Given the description of an element on the screen output the (x, y) to click on. 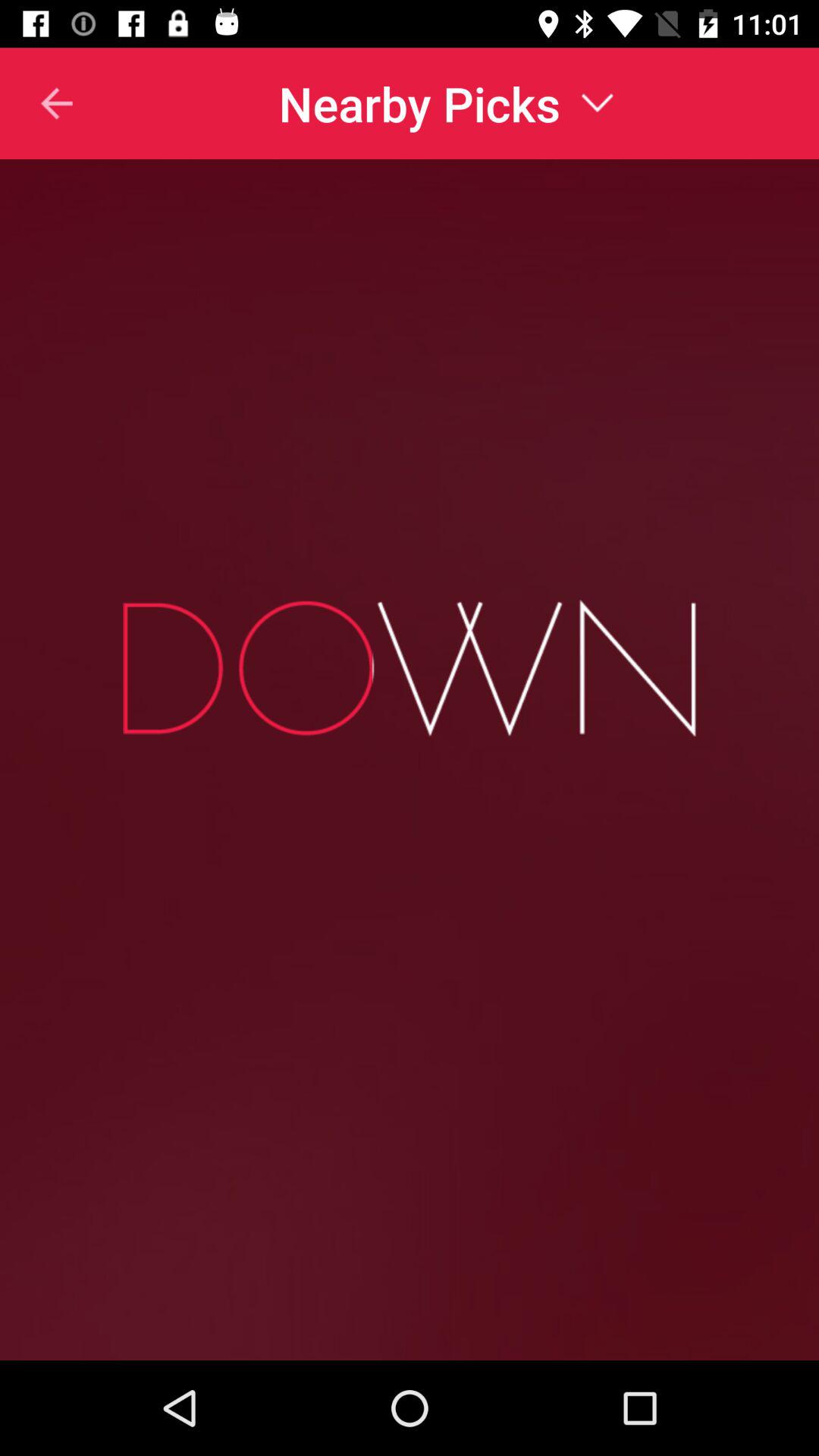
tap icon to the left of nearby picks item (37, 103)
